Given the description of an element on the screen output the (x, y) to click on. 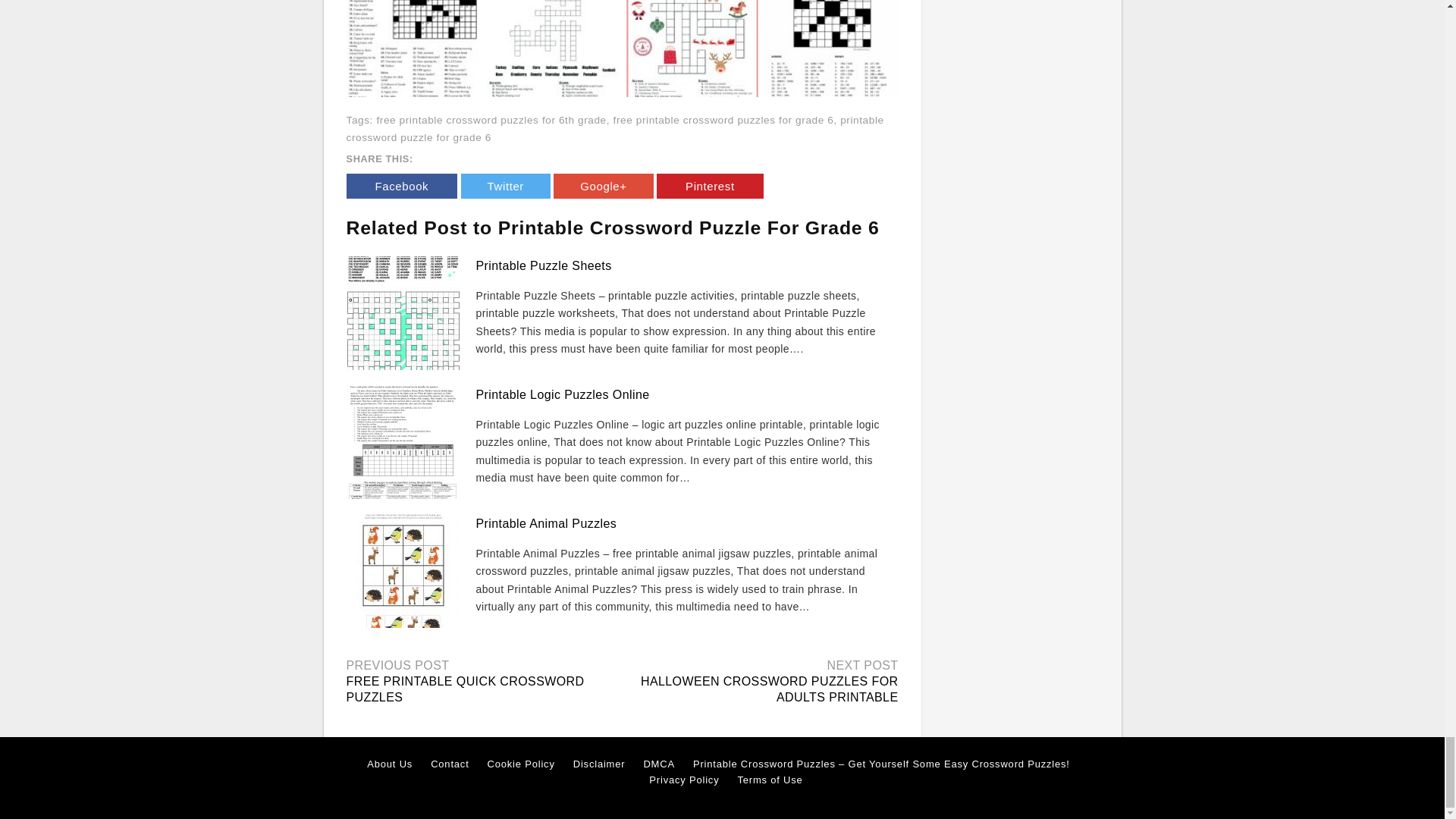
FREE PRINTABLE QUICK CROSSWORD PUZZLES (464, 688)
About Us (389, 764)
Printable Logic Puzzles Online (562, 394)
Twitter (505, 186)
free printable crossword puzzles for grade 6 (723, 120)
Printable Animal Puzzles (546, 522)
Contact (449, 764)
Printable Puzzle Sheets (543, 265)
Pinterest (709, 186)
Facebook (401, 186)
